Given the description of an element on the screen output the (x, y) to click on. 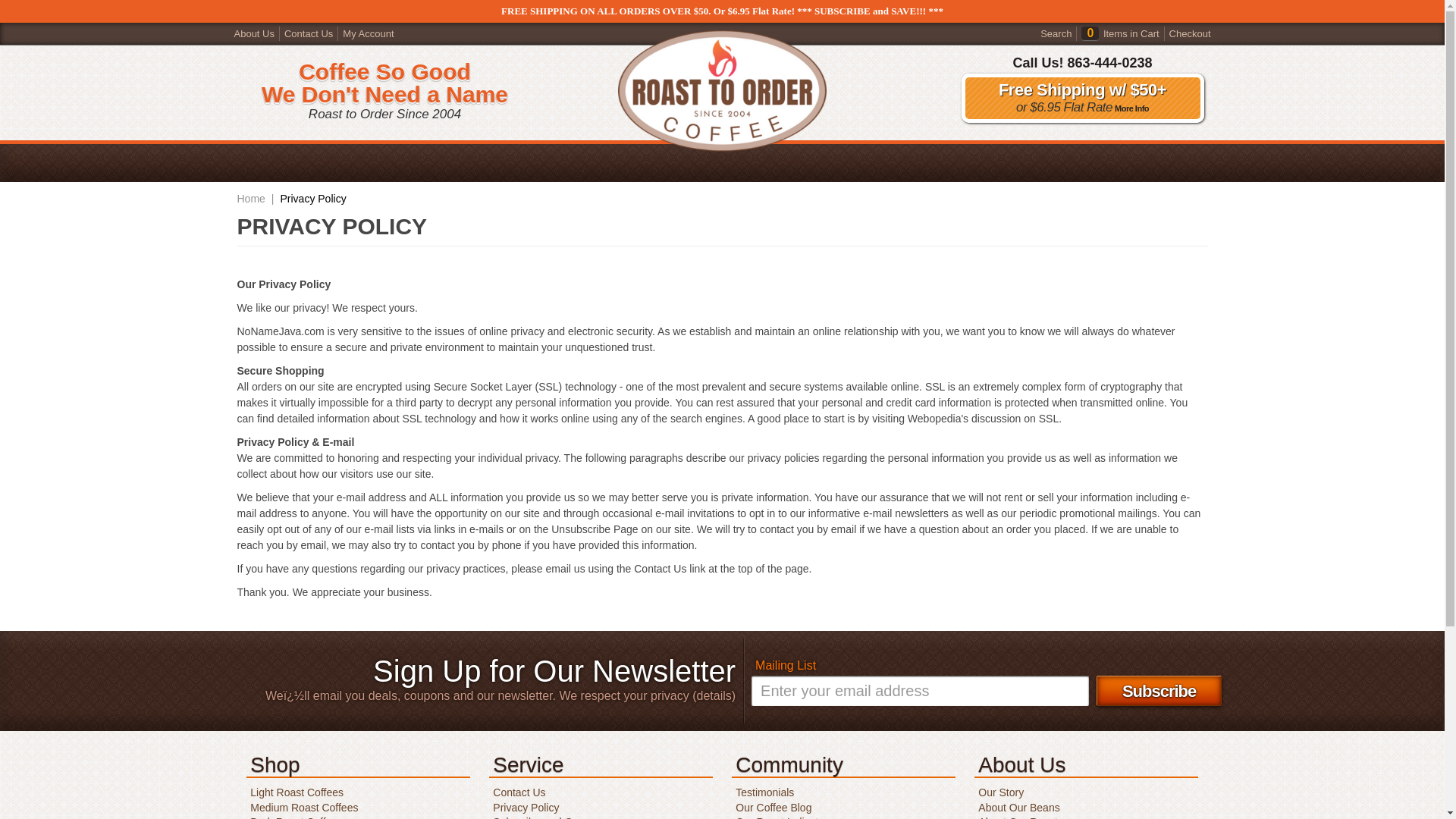
Privacy Policy (524, 807)
About Our Roaster (1020, 817)
Search (1056, 32)
My Account (367, 32)
About Our Beans (1016, 807)
Home (249, 198)
Contact Us (308, 32)
More Info (1130, 108)
Checkout (1190, 32)
Subscribe-and-Save (539, 817)
